Given the description of an element on the screen output the (x, y) to click on. 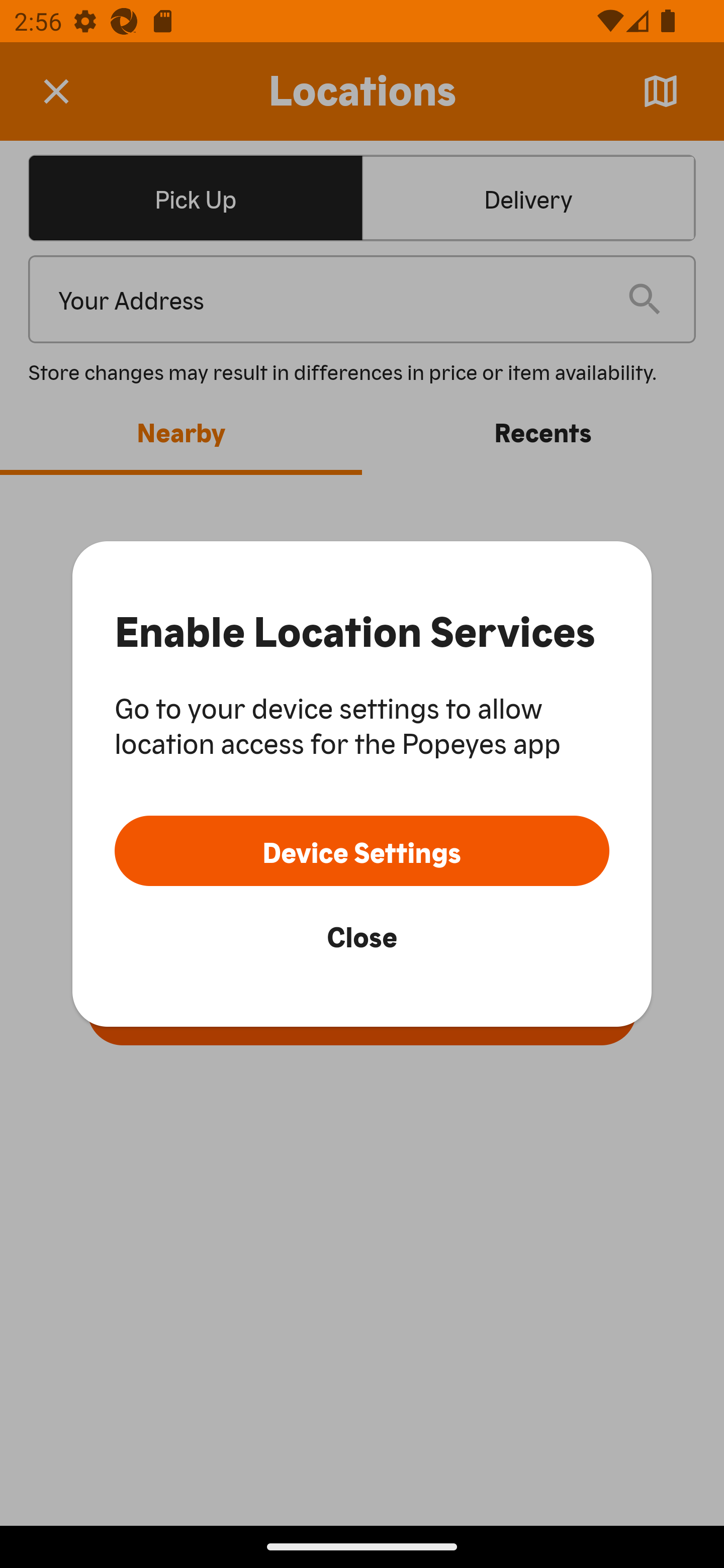
Device Settings (361, 850)
Close (361, 935)
